Given the description of an element on the screen output the (x, y) to click on. 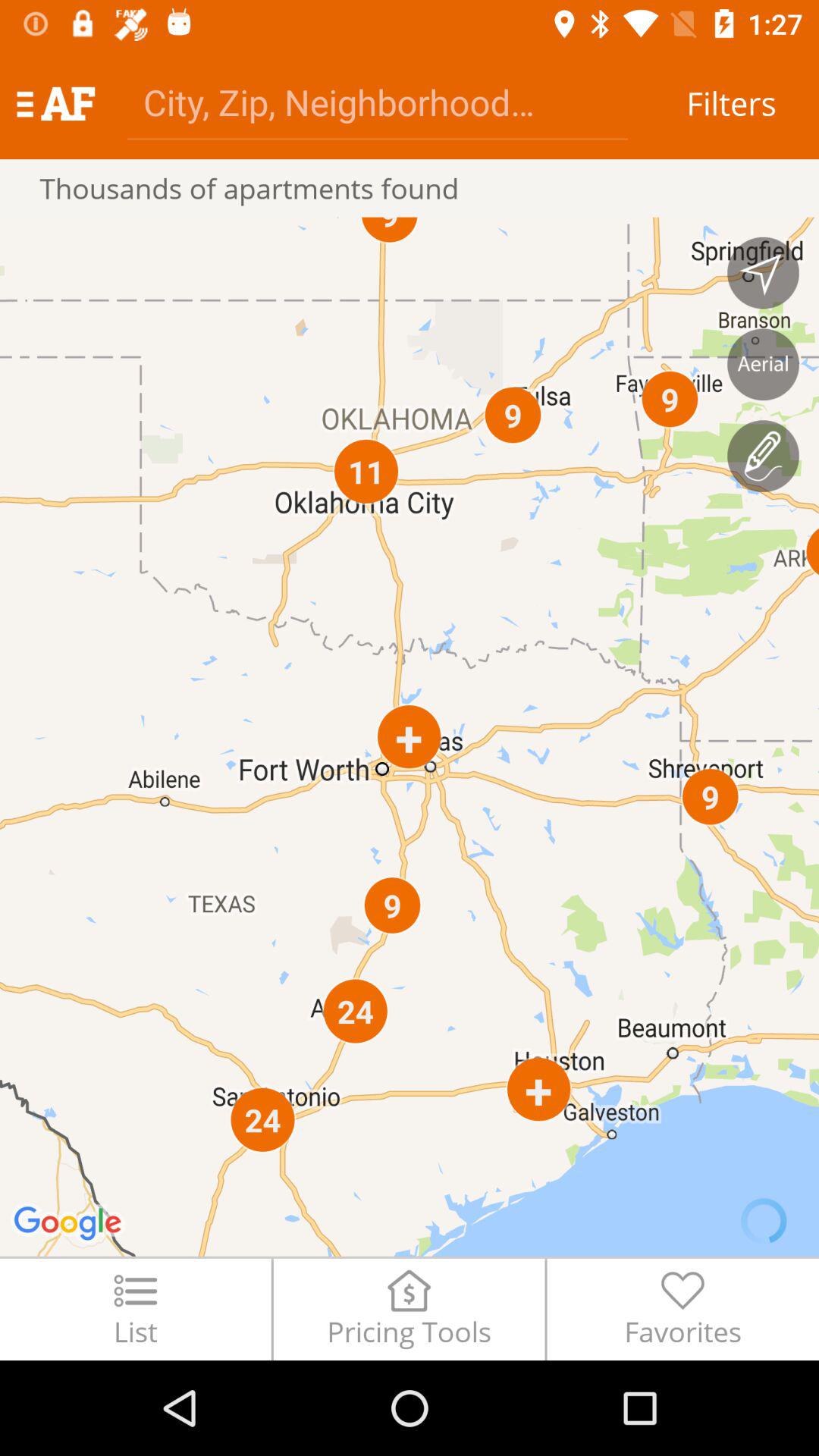
aerial (763, 364)
